Given the description of an element on the screen output the (x, y) to click on. 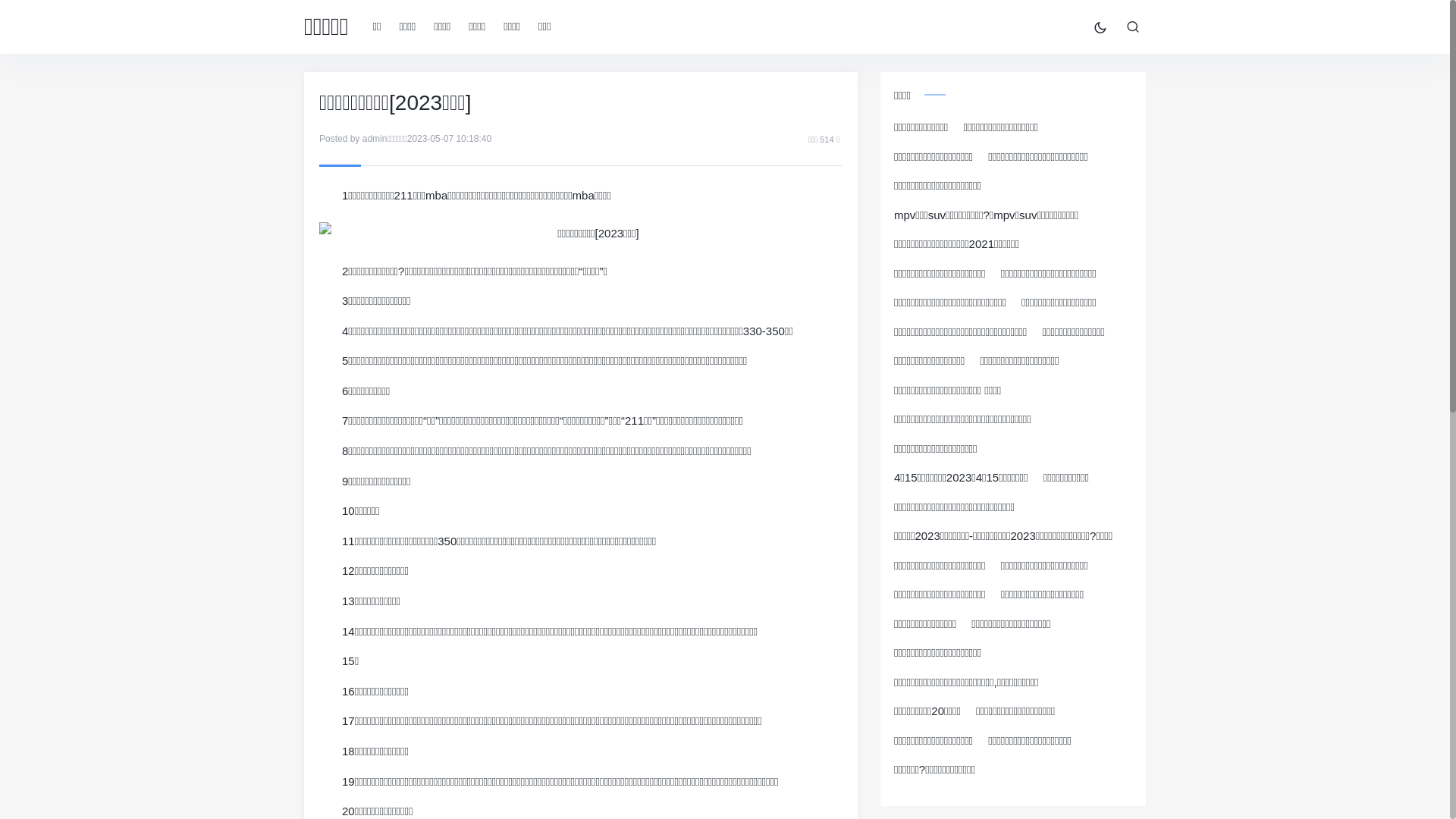
admin Element type: text (374, 138)
